Given the description of an element on the screen output the (x, y) to click on. 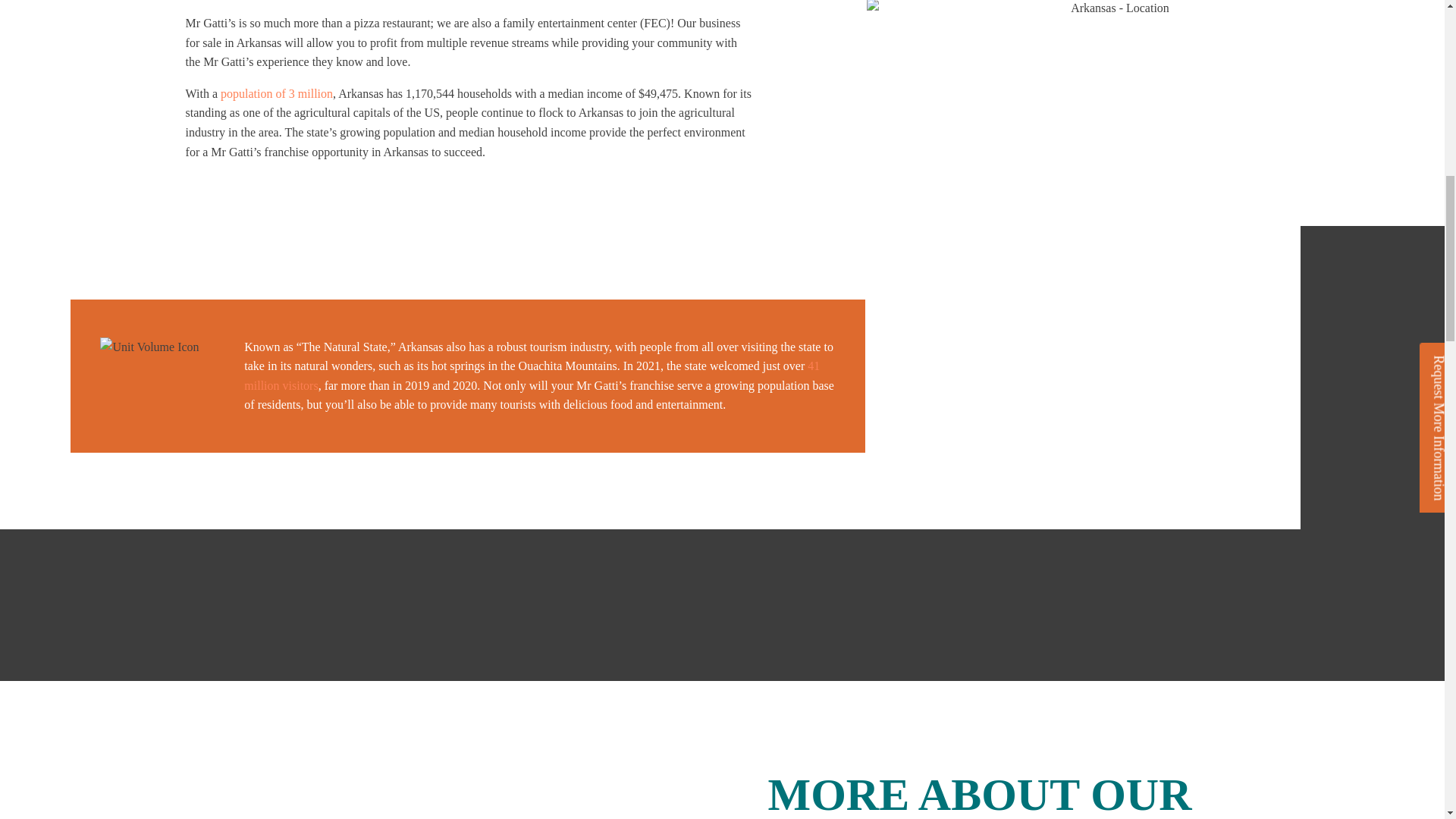
41 million visitors (531, 375)
population of 3 million (277, 92)
